Given the description of an element on the screen output the (x, y) to click on. 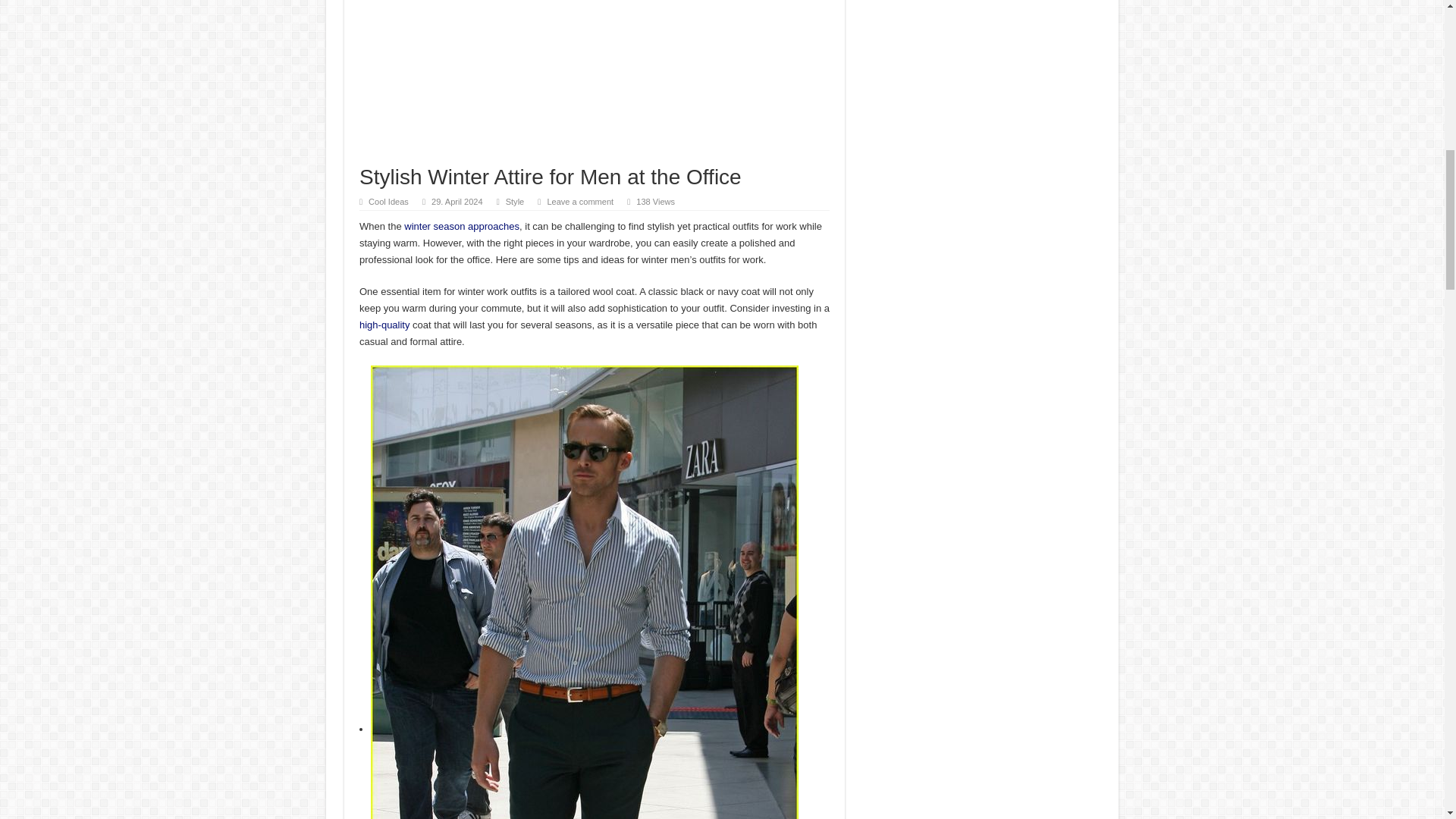
Style (514, 201)
Snowy Style: Chic Winter Outfits for Girls in White (461, 225)
winter season approaches (461, 225)
Leave a comment (579, 201)
high-quality (384, 324)
Advertisement (594, 82)
Cool Ideas (388, 201)
